Given the description of an element on the screen output the (x, y) to click on. 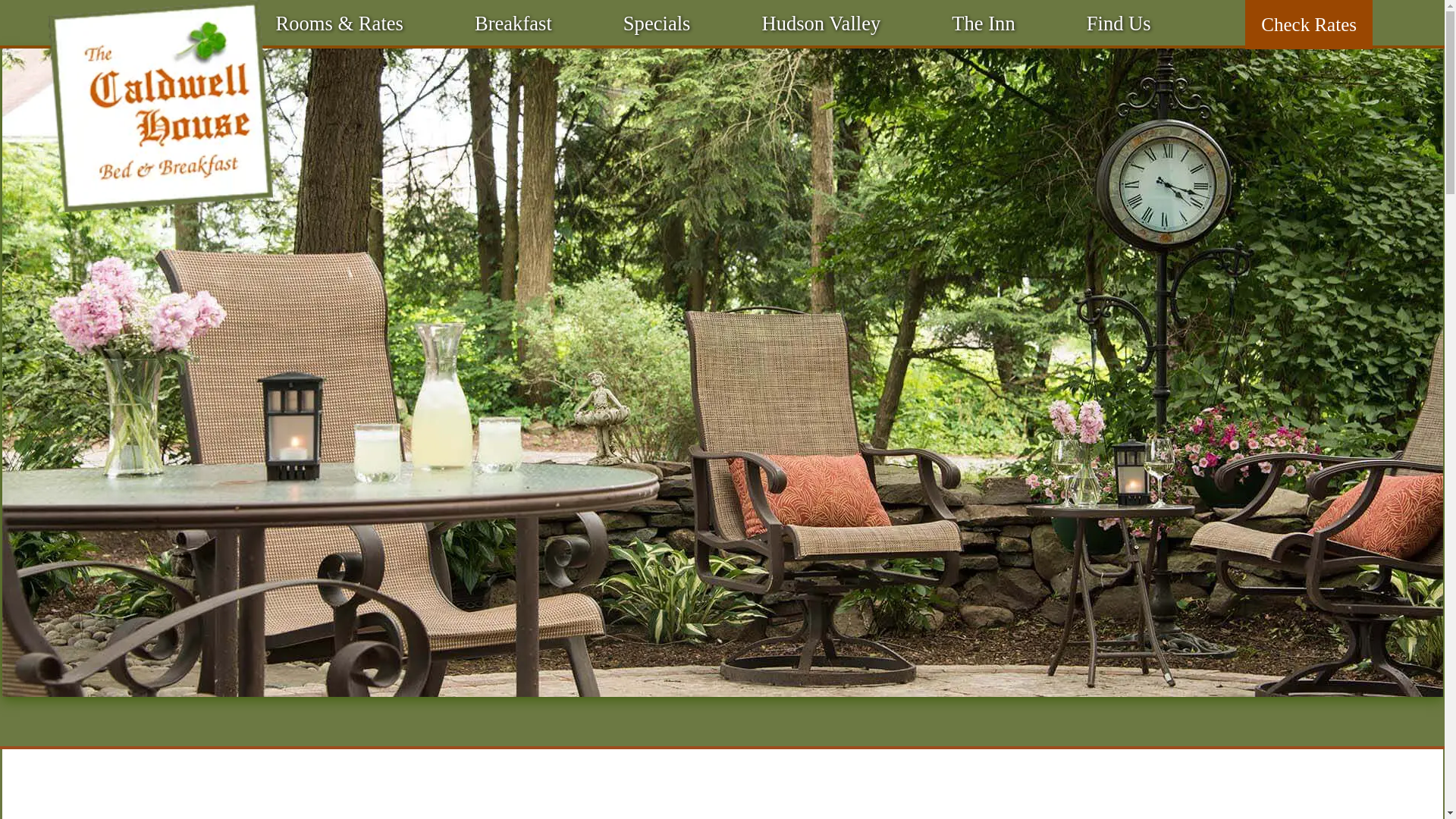
Specials (656, 23)
Hudson Valley (820, 23)
Breakfast (512, 23)
Make an online reservation (1308, 24)
